Given the description of an element on the screen output the (x, y) to click on. 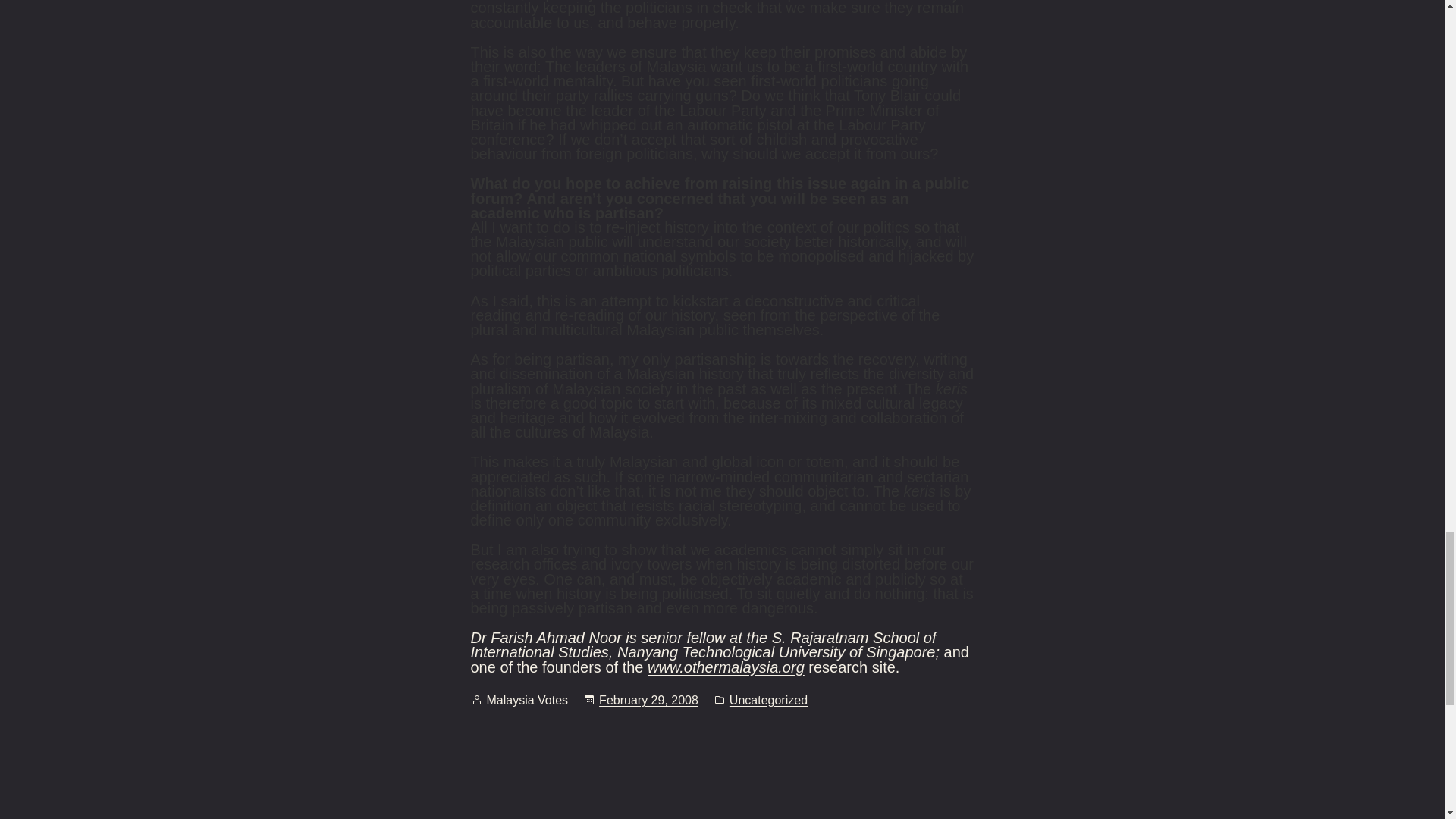
February 29, 2008 (648, 699)
www.othermalaysia.org (726, 667)
Uncategorized (768, 700)
